Given the description of an element on the screen output the (x, y) to click on. 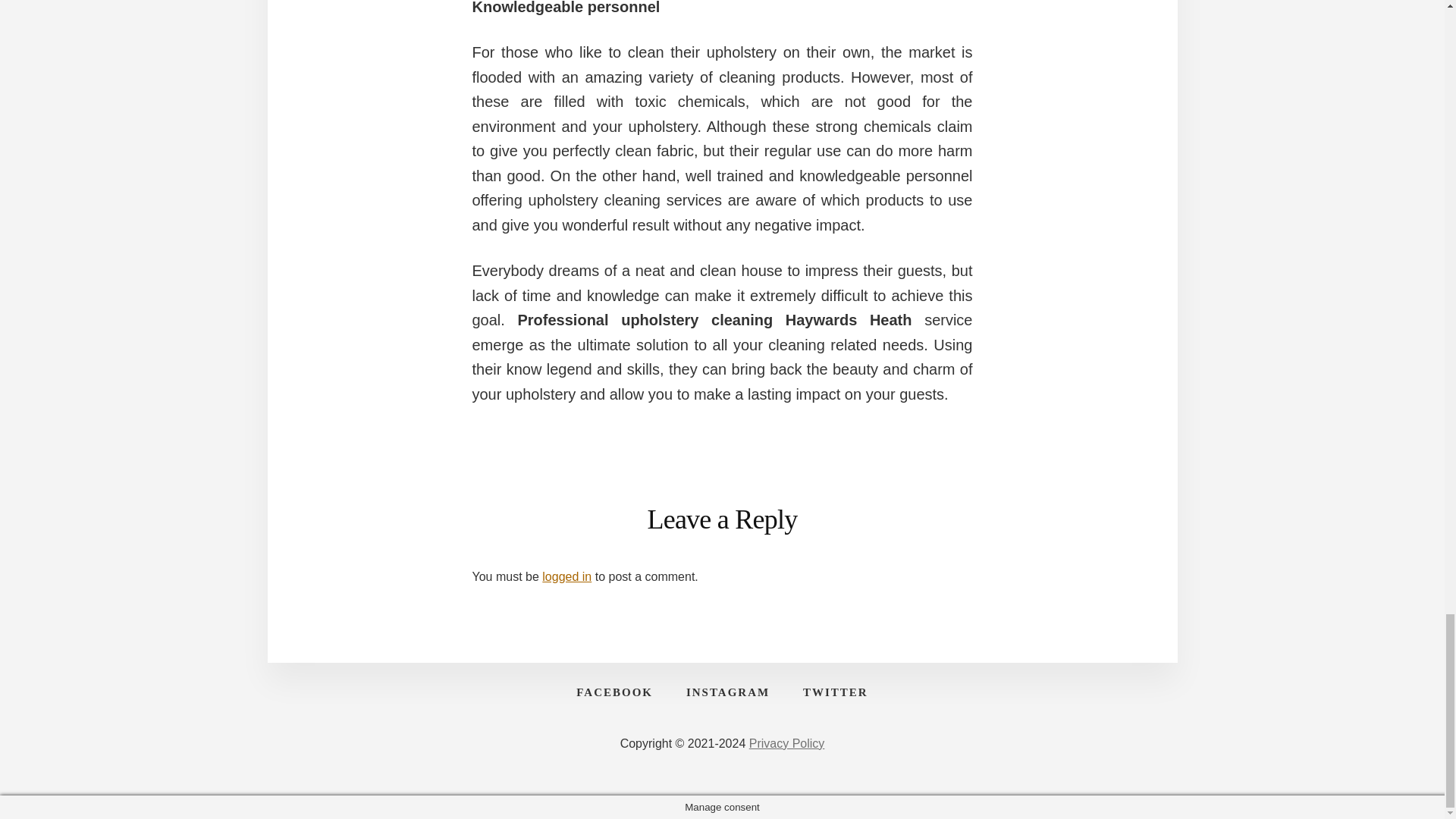
FACEBOOK (614, 692)
INSTAGRAM (727, 692)
TWITTER (835, 692)
logged in (566, 576)
Privacy Policy (787, 743)
